Given the description of an element on the screen output the (x, y) to click on. 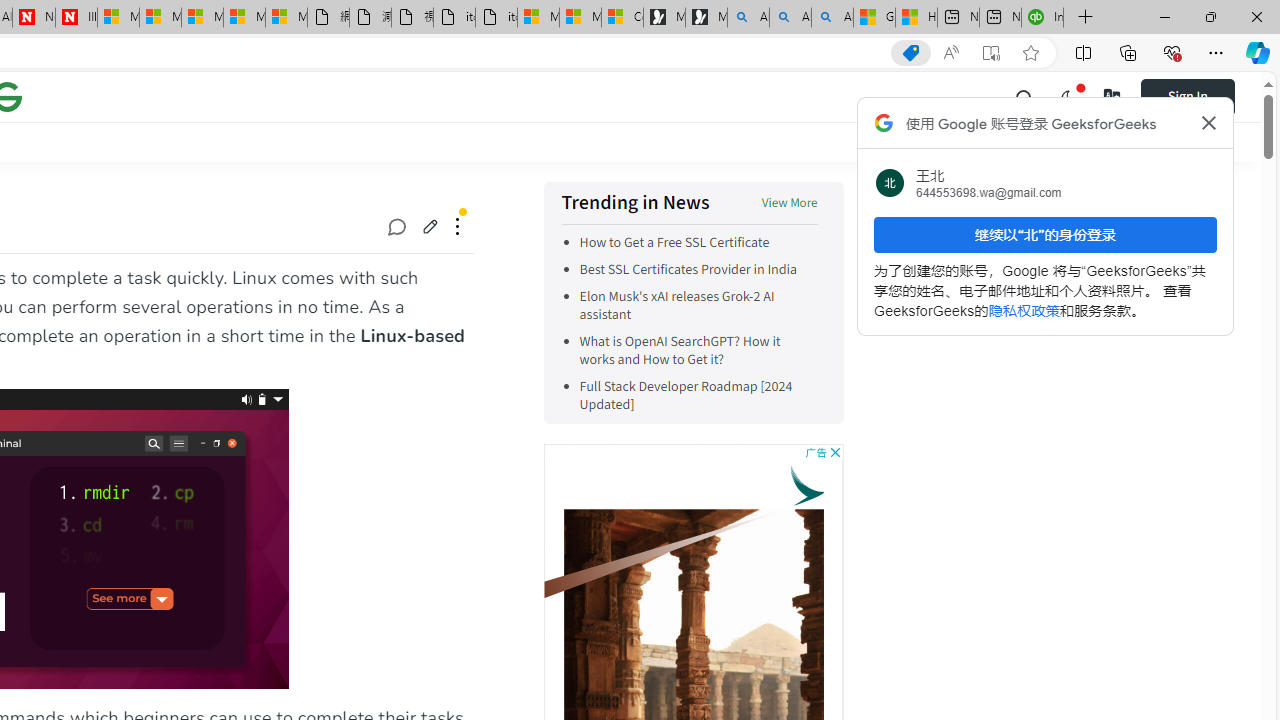
Alabama high school quarterback dies - Search (748, 17)
Sign In (1200, 96)
Class: header-main__left-list-item gcse-search_li p-relative (1025, 96)
